Given the description of an element on the screen output the (x, y) to click on. 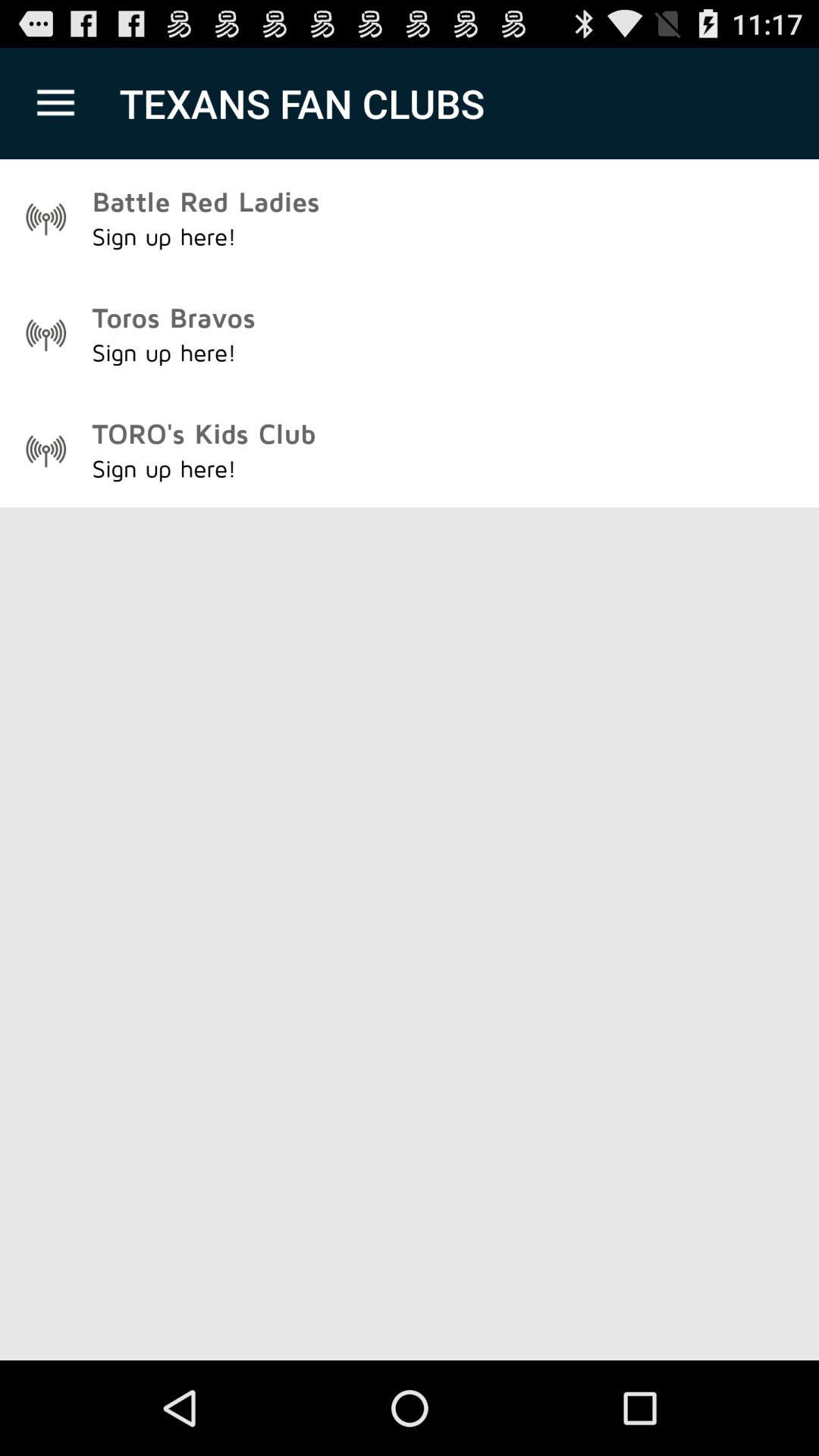
press the icon next to the texans fan clubs app (55, 103)
